Given the description of an element on the screen output the (x, y) to click on. 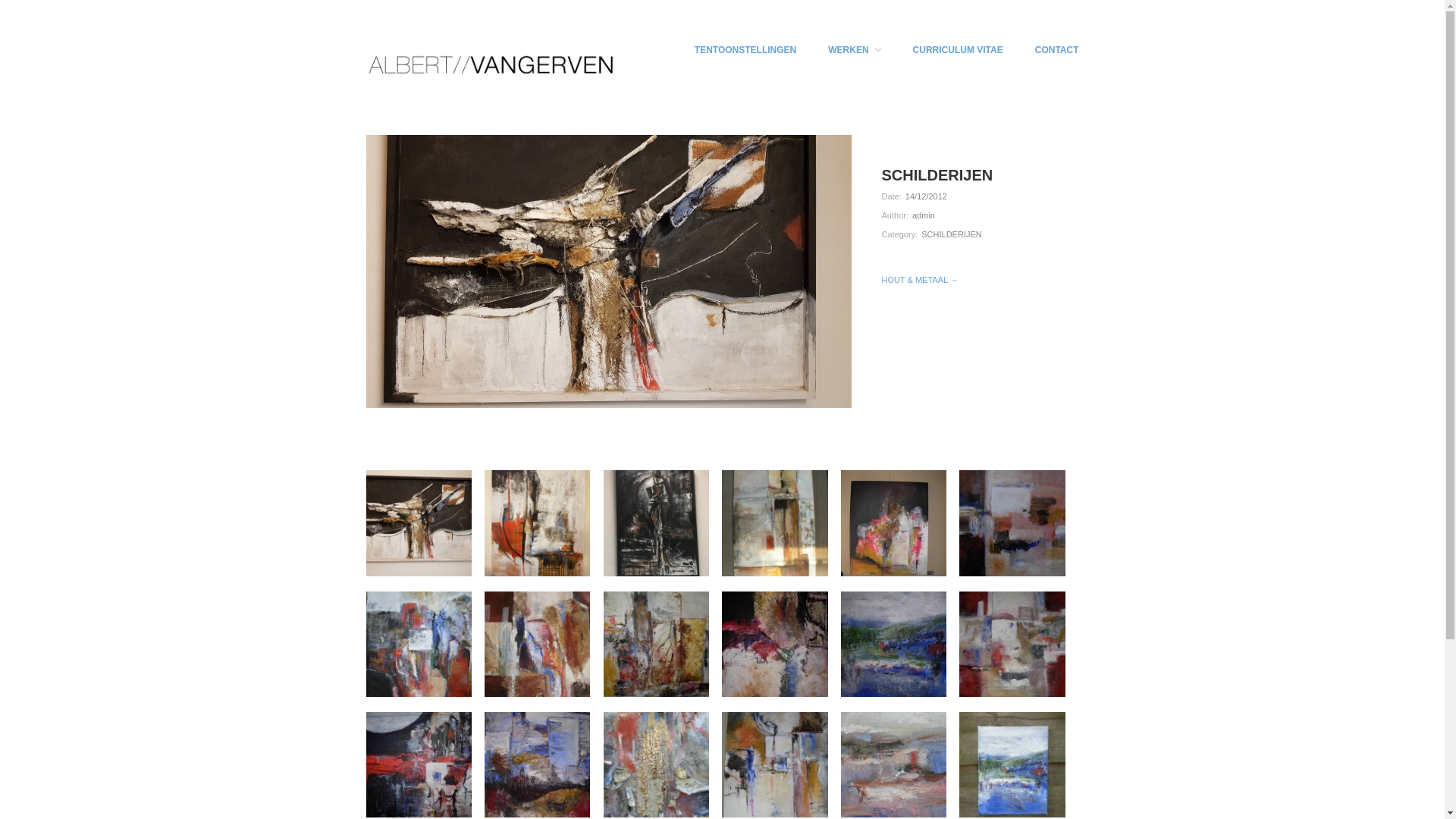
WERKEN Element type: text (854, 49)
TENTOONSTELLINGEN Element type: text (745, 49)
CURRICULUM VITAE Element type: text (958, 49)
Albert Vangerven Element type: hover (490, 62)
CONTACT Element type: text (1057, 49)
SCHILDERIJEN Element type: text (951, 233)
admin Element type: text (923, 214)
